Given the description of an element on the screen output the (x, y) to click on. 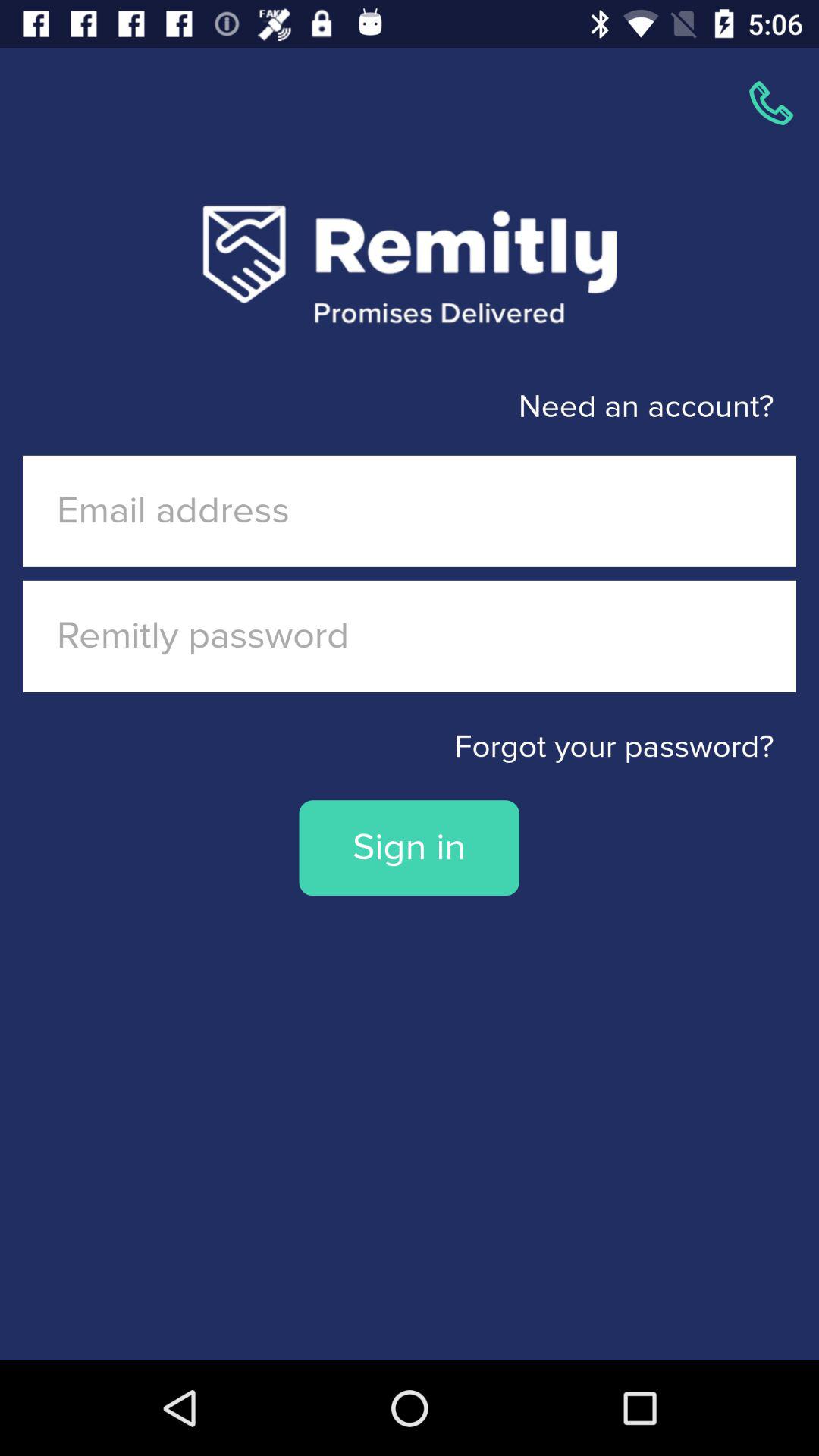
turn off forgot your password? icon (409, 747)
